Given the description of an element on the screen output the (x, y) to click on. 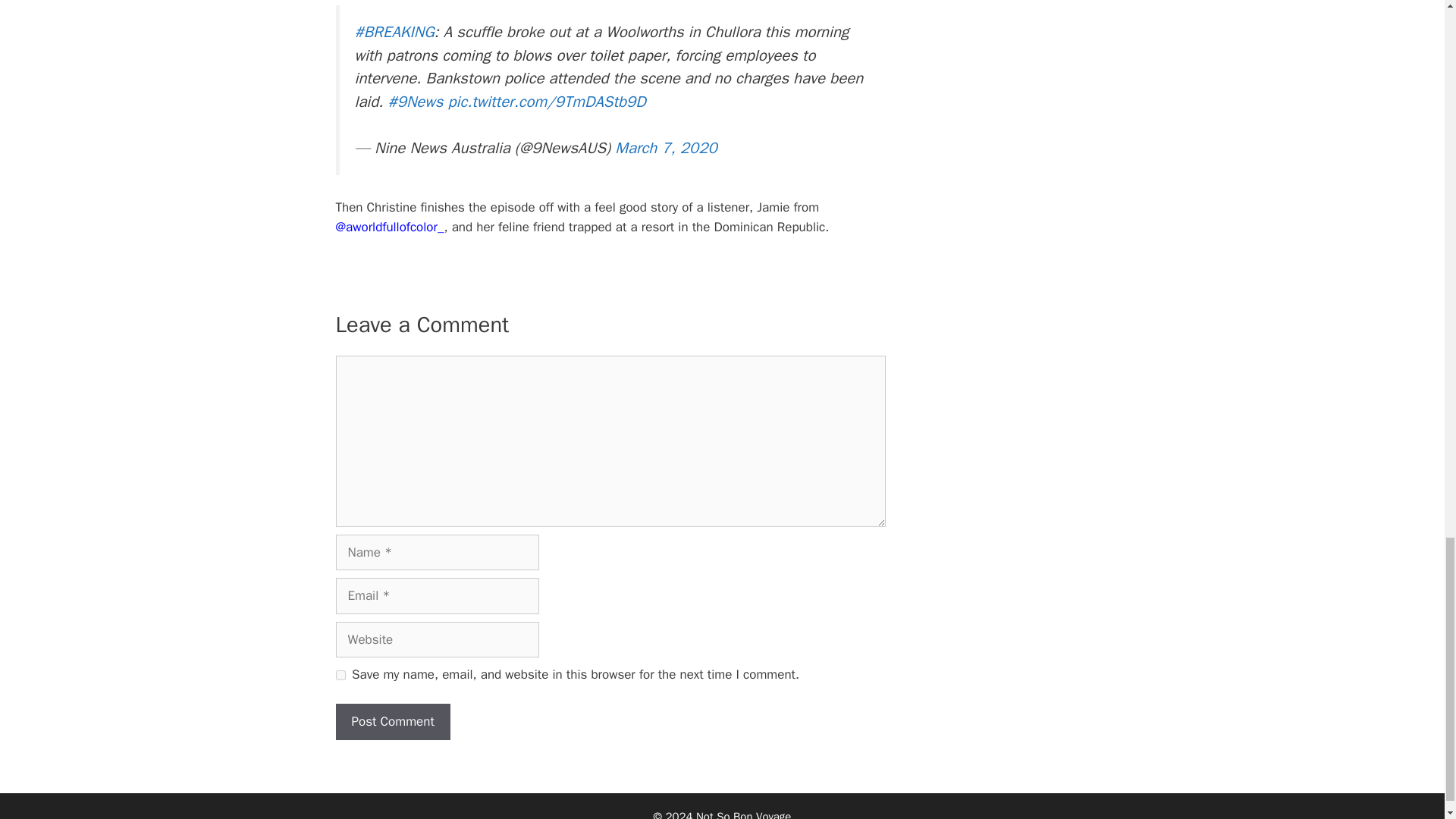
Post Comment (391, 721)
Post Comment (391, 721)
yes (339, 675)
March 7, 2020 (665, 148)
